Given the description of an element on the screen output the (x, y) to click on. 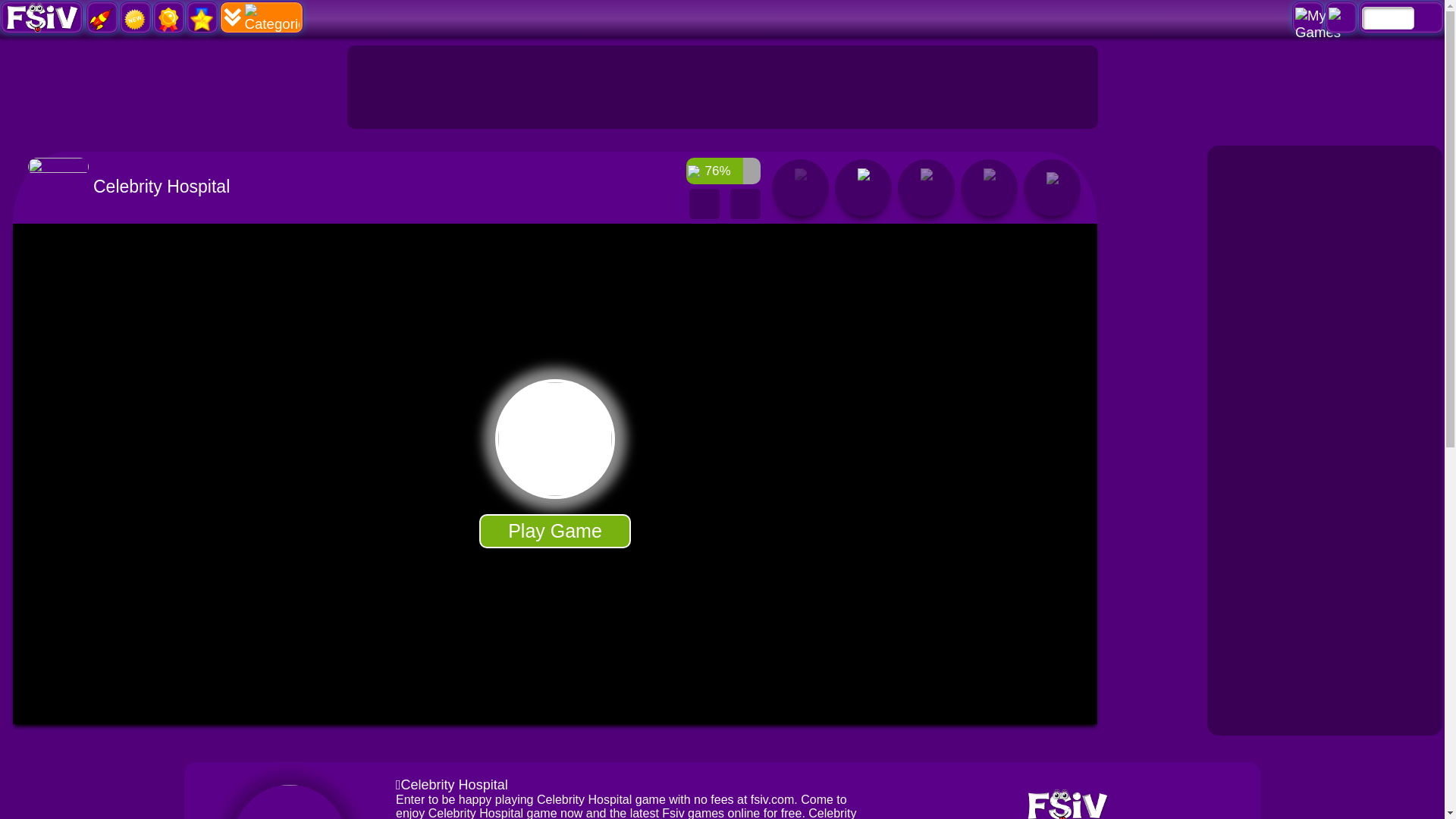
Play Game (554, 530)
